Given the description of an element on the screen output the (x, y) to click on. 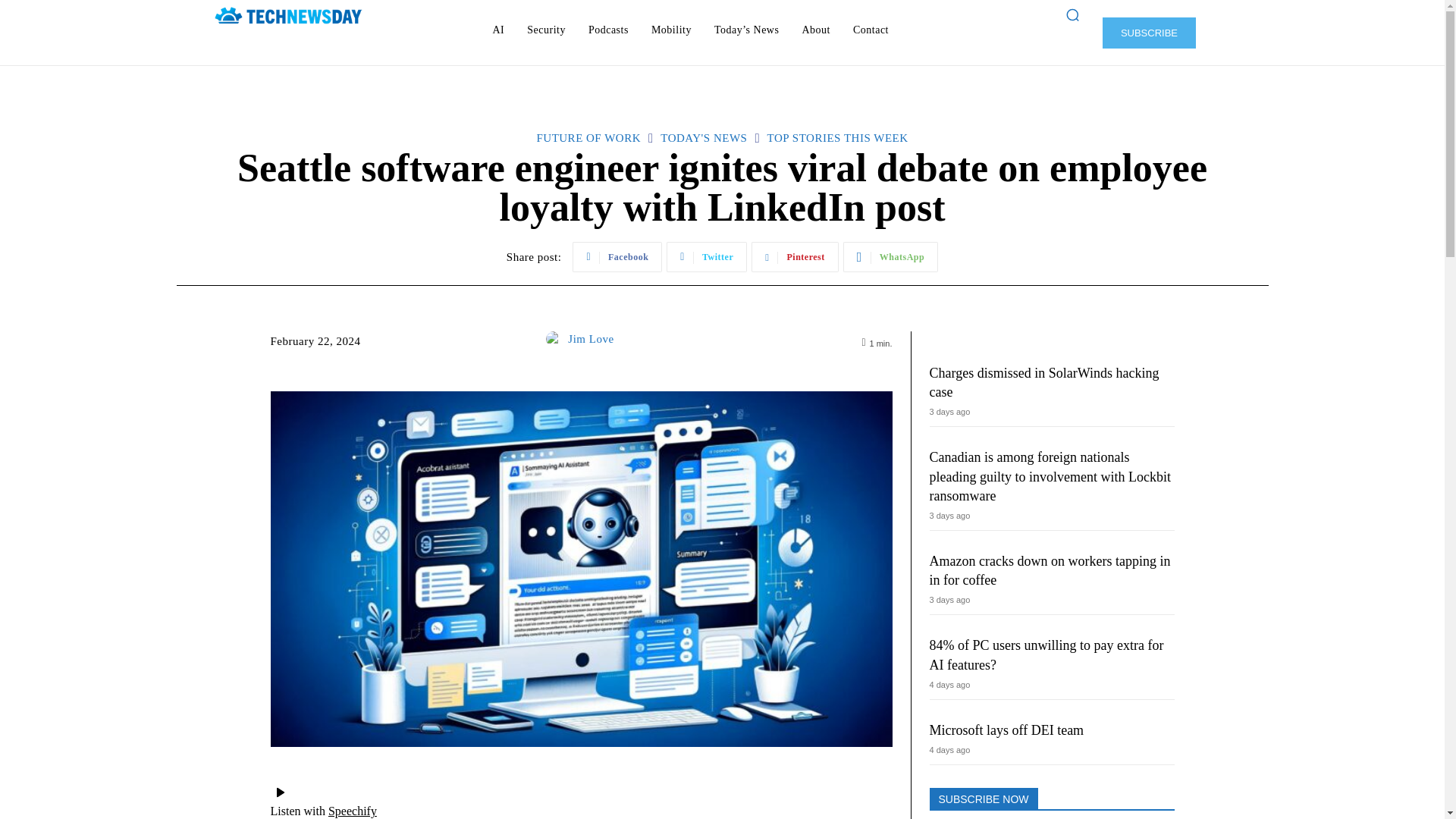
SUBSCRIBE (1148, 31)
Mobility (670, 30)
Podcasts (608, 30)
